Given the description of an element on the screen output the (x, y) to click on. 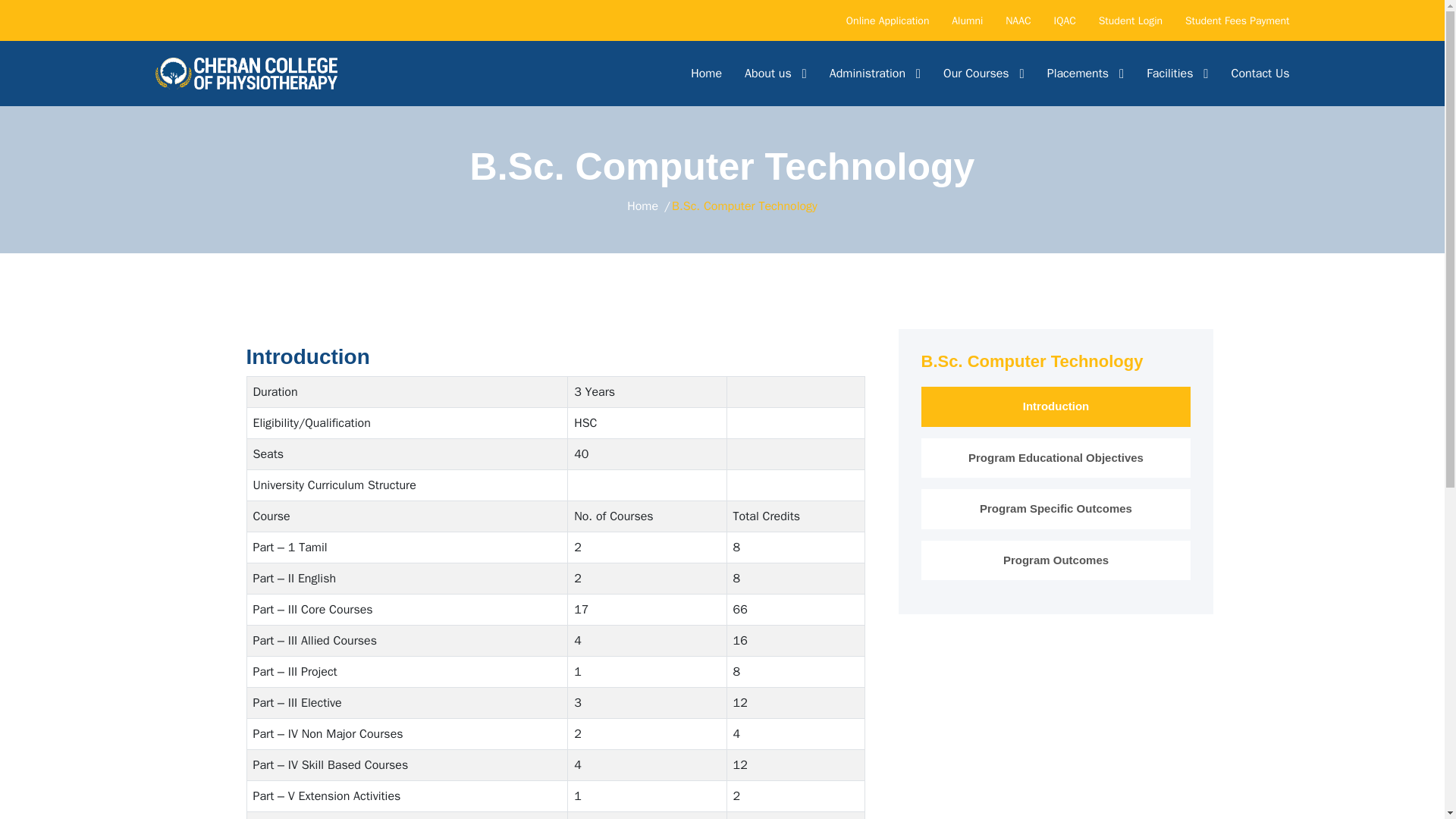
Our Courses (984, 73)
Facilities (1177, 73)
Go to Cheran College of Physiotherapy. (642, 206)
About us (775, 73)
Online Application (887, 20)
Placements (1085, 73)
NAAC (1018, 20)
Administration (874, 73)
Alumni (967, 20)
IQAC (1064, 20)
